Given the description of an element on the screen output the (x, y) to click on. 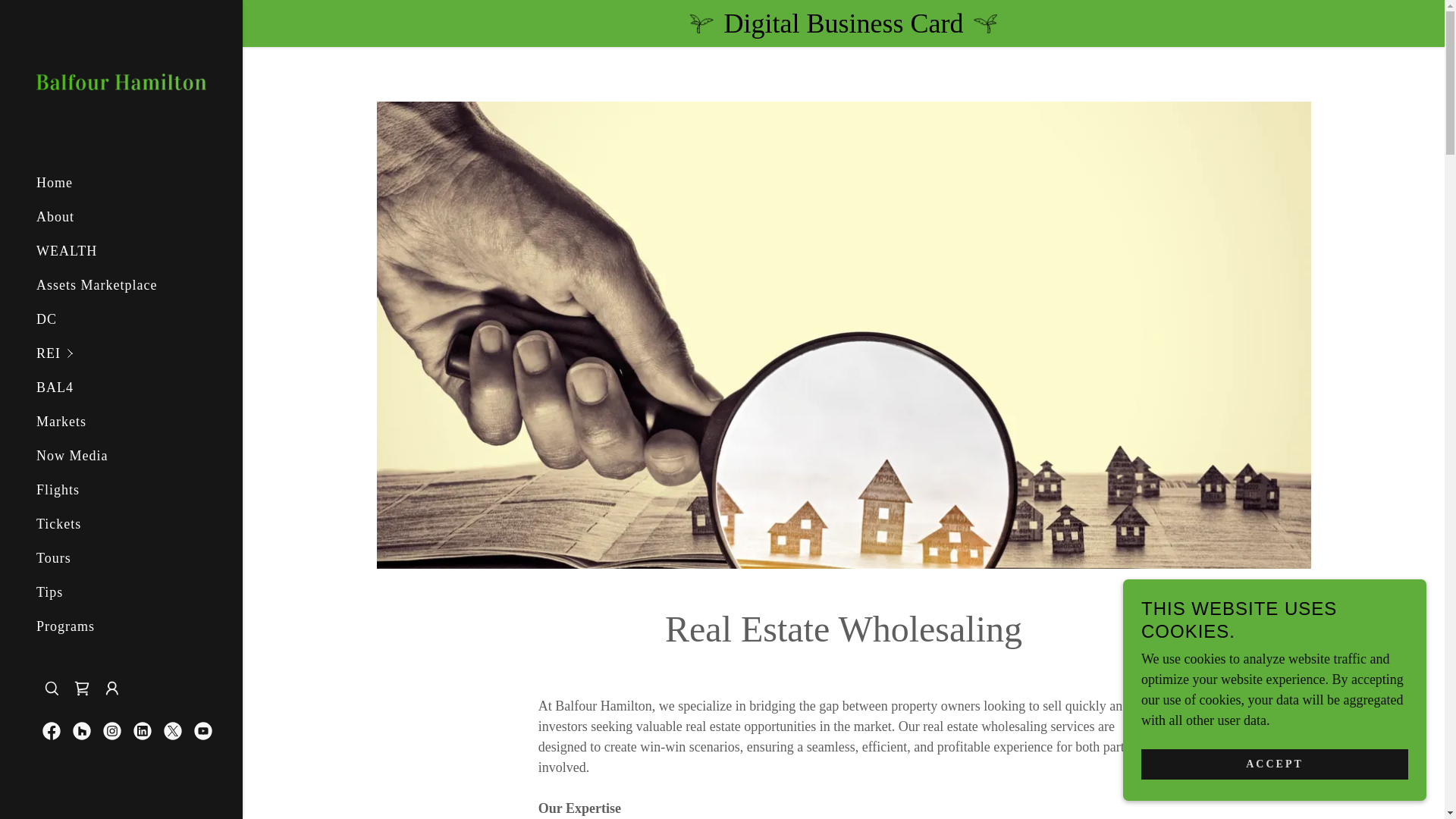
Programs (65, 626)
BAL4 (55, 387)
REI (139, 353)
Assets Marketplace (96, 284)
WEALTH (66, 250)
Now Media (71, 455)
Tips (49, 591)
Tickets (58, 523)
DC (46, 319)
About (55, 216)
Flights (58, 489)
Home (54, 182)
Markets (60, 421)
Tours (53, 557)
Balfour Hamilton (121, 79)
